Given the description of an element on the screen output the (x, y) to click on. 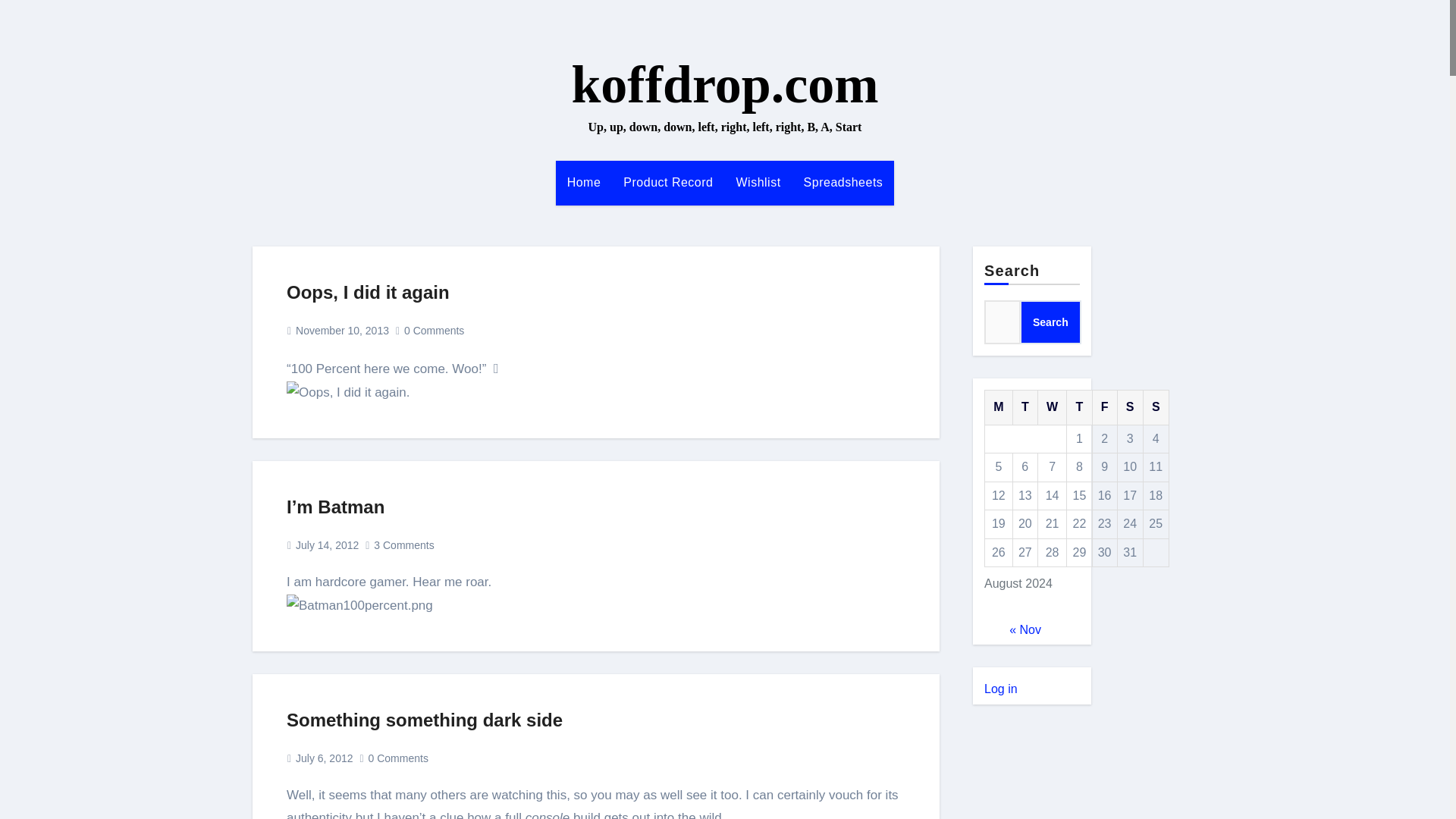
November 10, 2013 (341, 330)
0 Comments (398, 758)
Spreadsheets (843, 182)
koffdrop.com (723, 84)
Oops, I did it again (367, 291)
Wishlist (758, 182)
3 Comments (403, 544)
Product Record (667, 182)
July 6, 2012 (324, 758)
Product Record (667, 182)
